Given the description of an element on the screen output the (x, y) to click on. 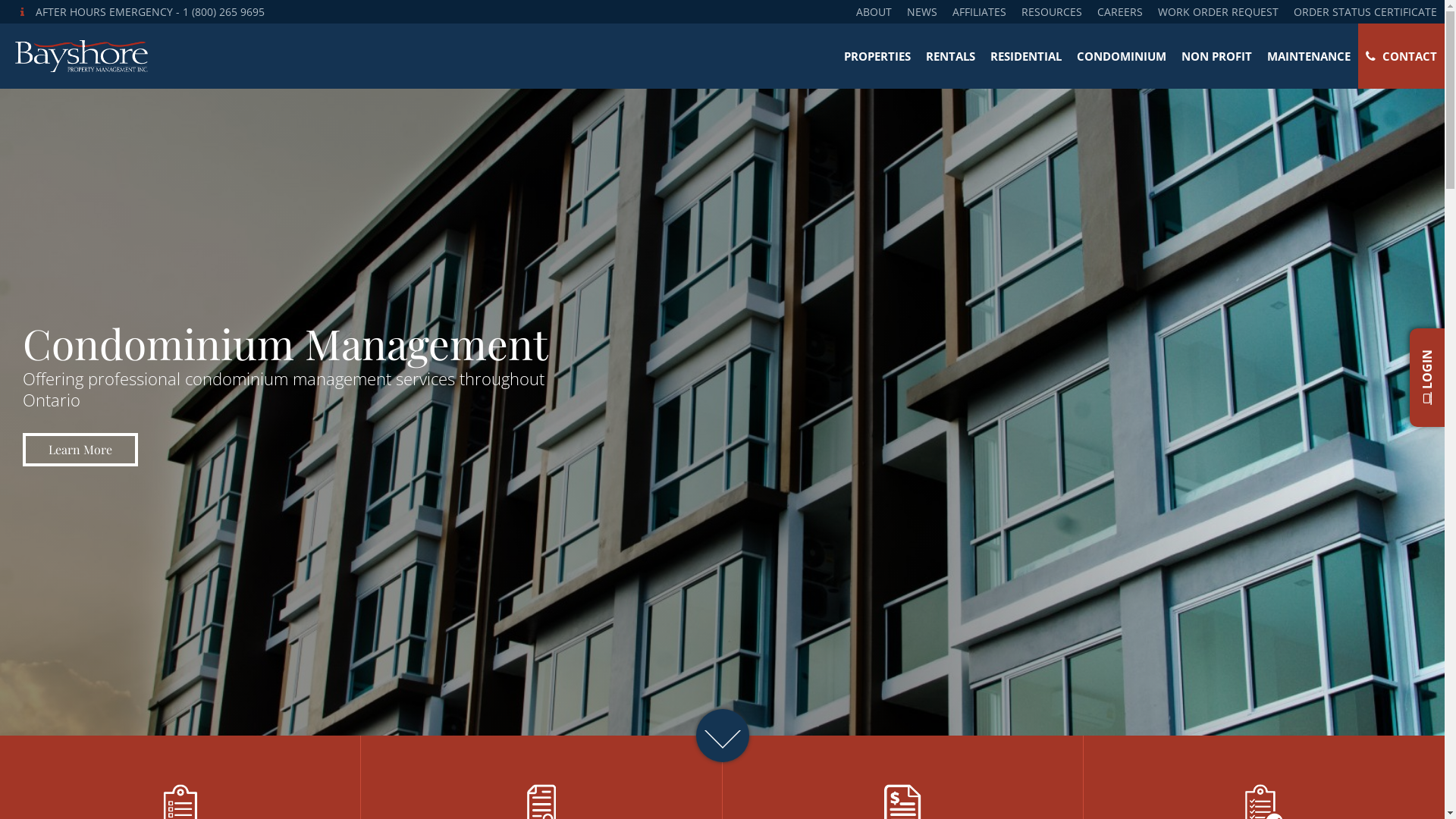
CONTACT Element type: text (1401, 55)
RESIDENTIAL Element type: text (1025, 55)
ABOUT Element type: text (873, 11)
RESOURCES Element type: text (1051, 11)
Learn More Element type: text (80, 449)
PROPERTIES Element type: text (877, 55)
MAINTENANCE Element type: text (1308, 55)
WORK ORDER REQUEST Element type: text (1218, 11)
CONDOMINIUM Element type: text (1121, 55)
RENTALS Element type: text (950, 55)
AFFILIATES Element type: text (978, 11)
NON PROFIT Element type: text (1216, 55)
CAREERS Element type: text (1119, 11)
ORDER STATUS CERTIFICATE Element type: text (1365, 11)
NEWS Element type: text (921, 11)
